Given the description of an element on the screen output the (x, y) to click on. 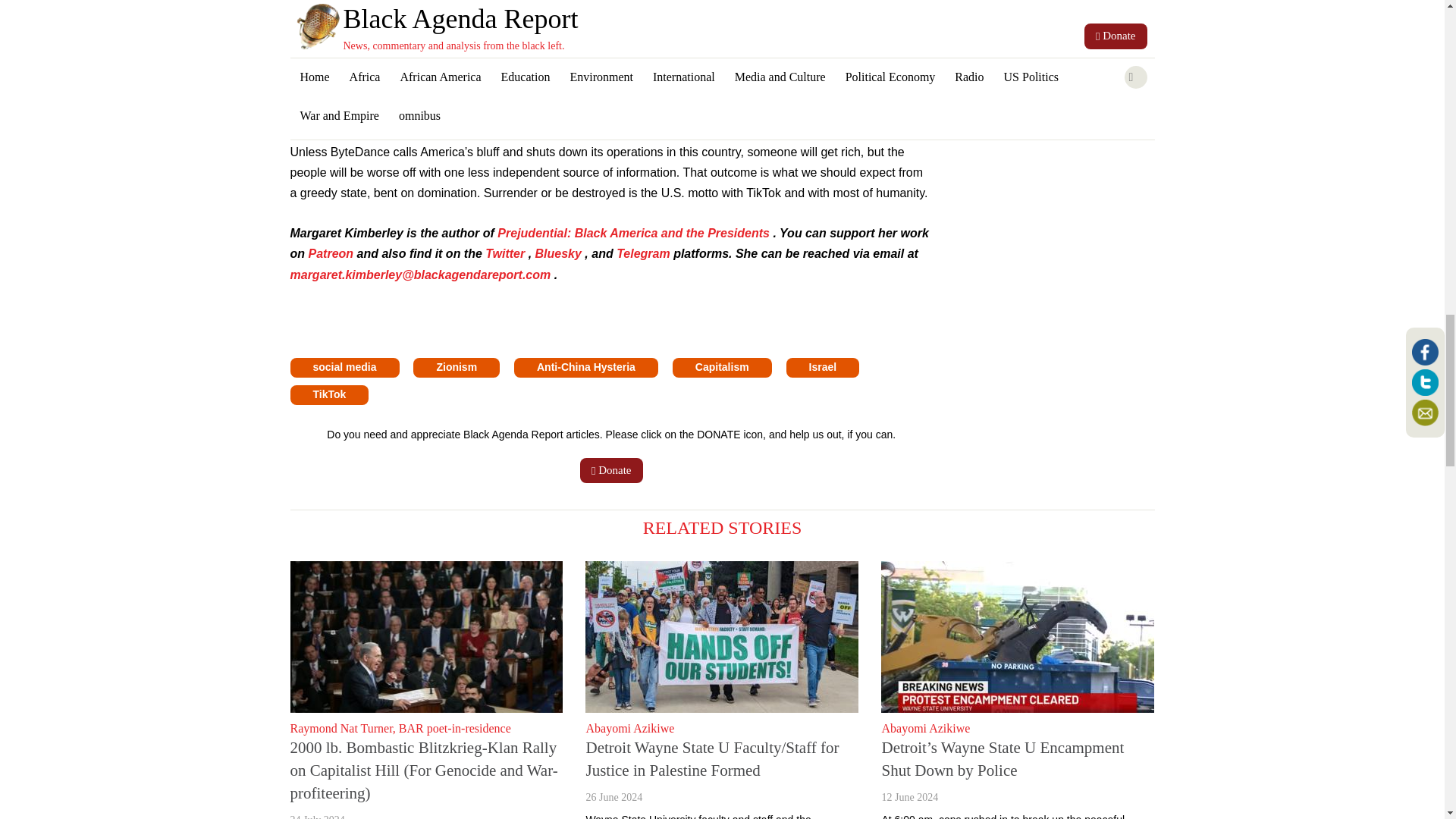
Prejudential: Black America and the Presidents (635, 232)
Capitalism (721, 367)
Telegram (643, 253)
Zionism (456, 367)
social media (343, 367)
Anti-China Hysteria (585, 367)
Bluesky (560, 253)
Patreon (331, 253)
Twitter (505, 253)
Israel (823, 367)
